Given the description of an element on the screen output the (x, y) to click on. 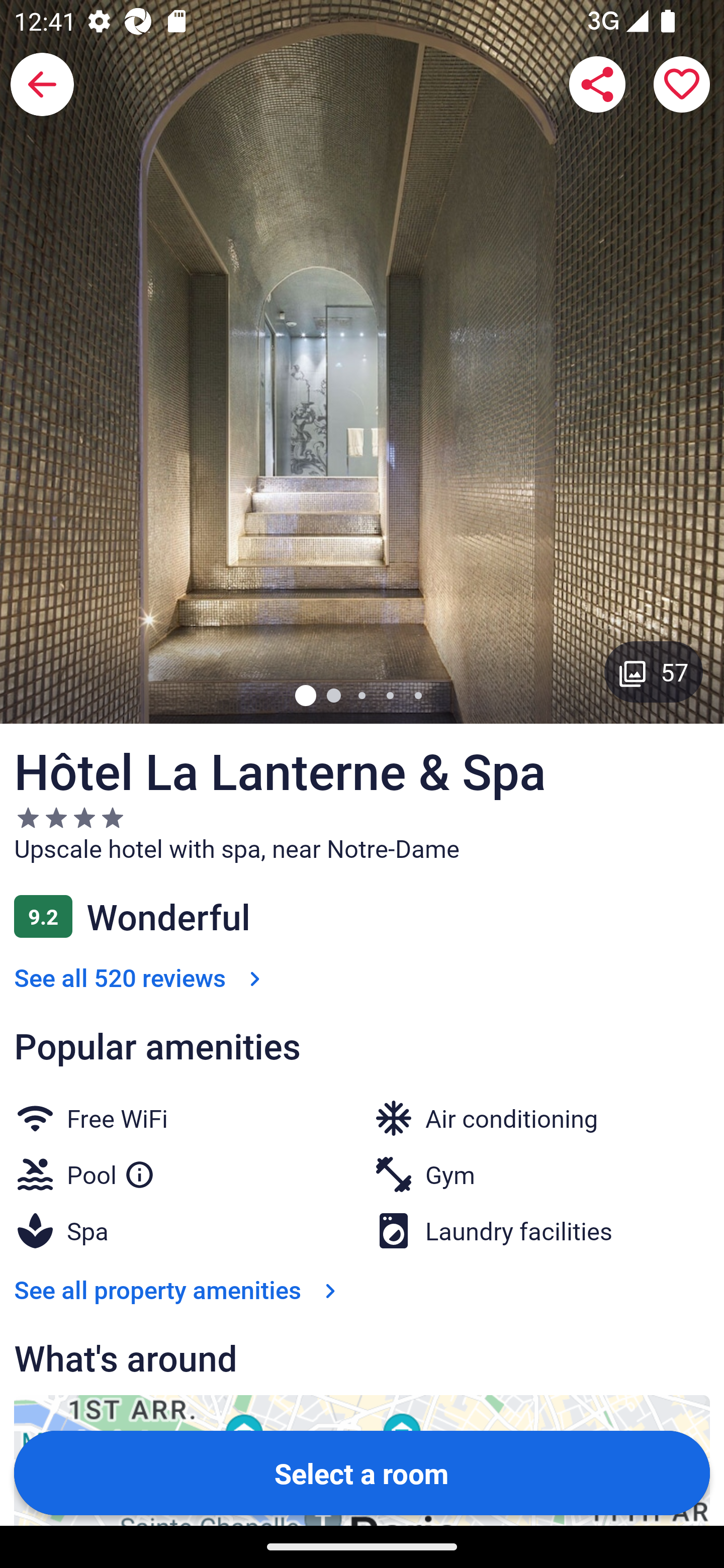
Back (42, 84)
Save property to a trip (681, 84)
Share Hôtel La Lanterne & Spa (597, 84)
Gallery button with 57 images (653, 671)
See all 520 reviews See all 520 reviews Link (140, 976)
Pool (110, 1170)
See all property amenities (178, 1289)
Select a room Button Select a room (361, 1472)
